Given the description of an element on the screen output the (x, y) to click on. 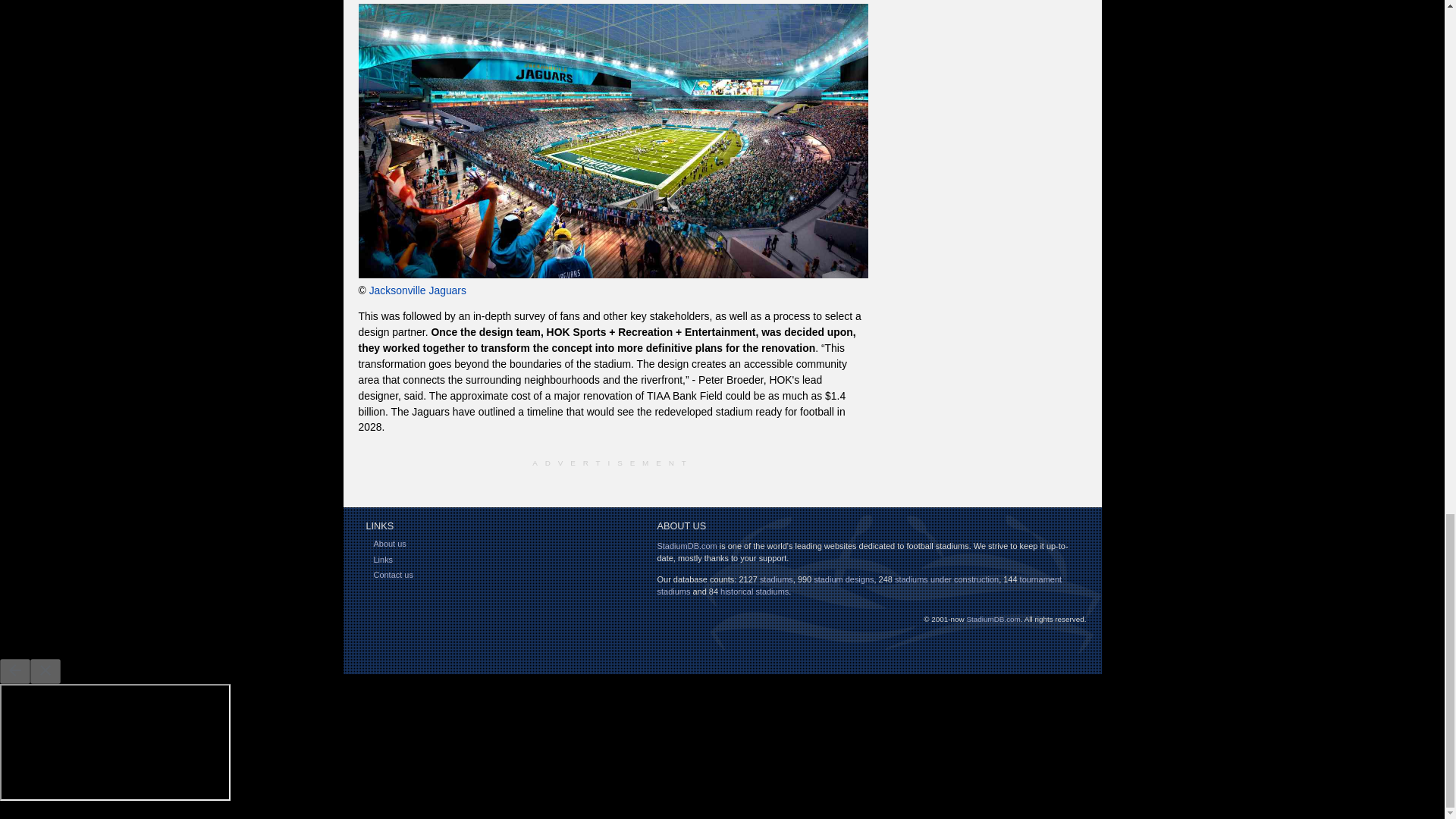
Jacksonville Jaguars (417, 290)
StadiumDB.com (686, 545)
